Given the description of an element on the screen output the (x, y) to click on. 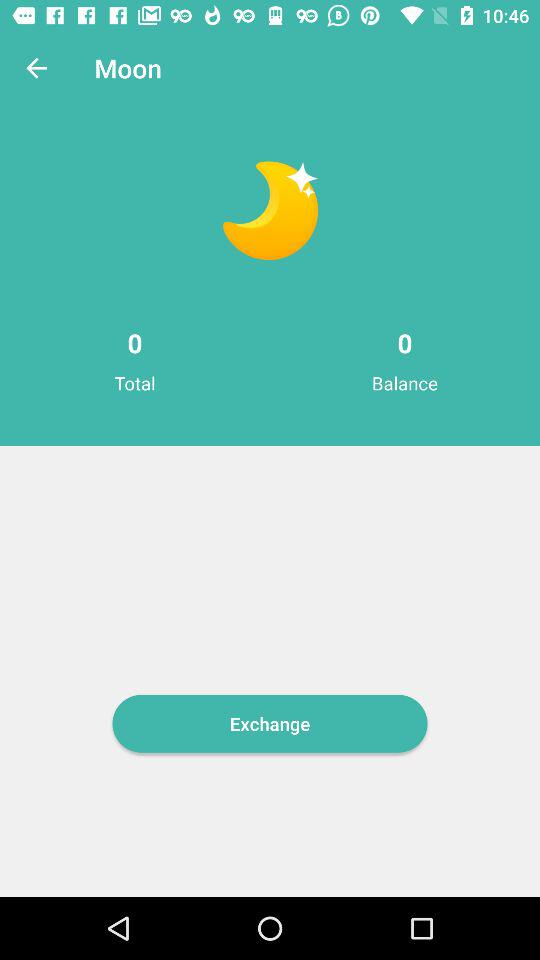
turn on the item below total icon (269, 723)
